Given the description of an element on the screen output the (x, y) to click on. 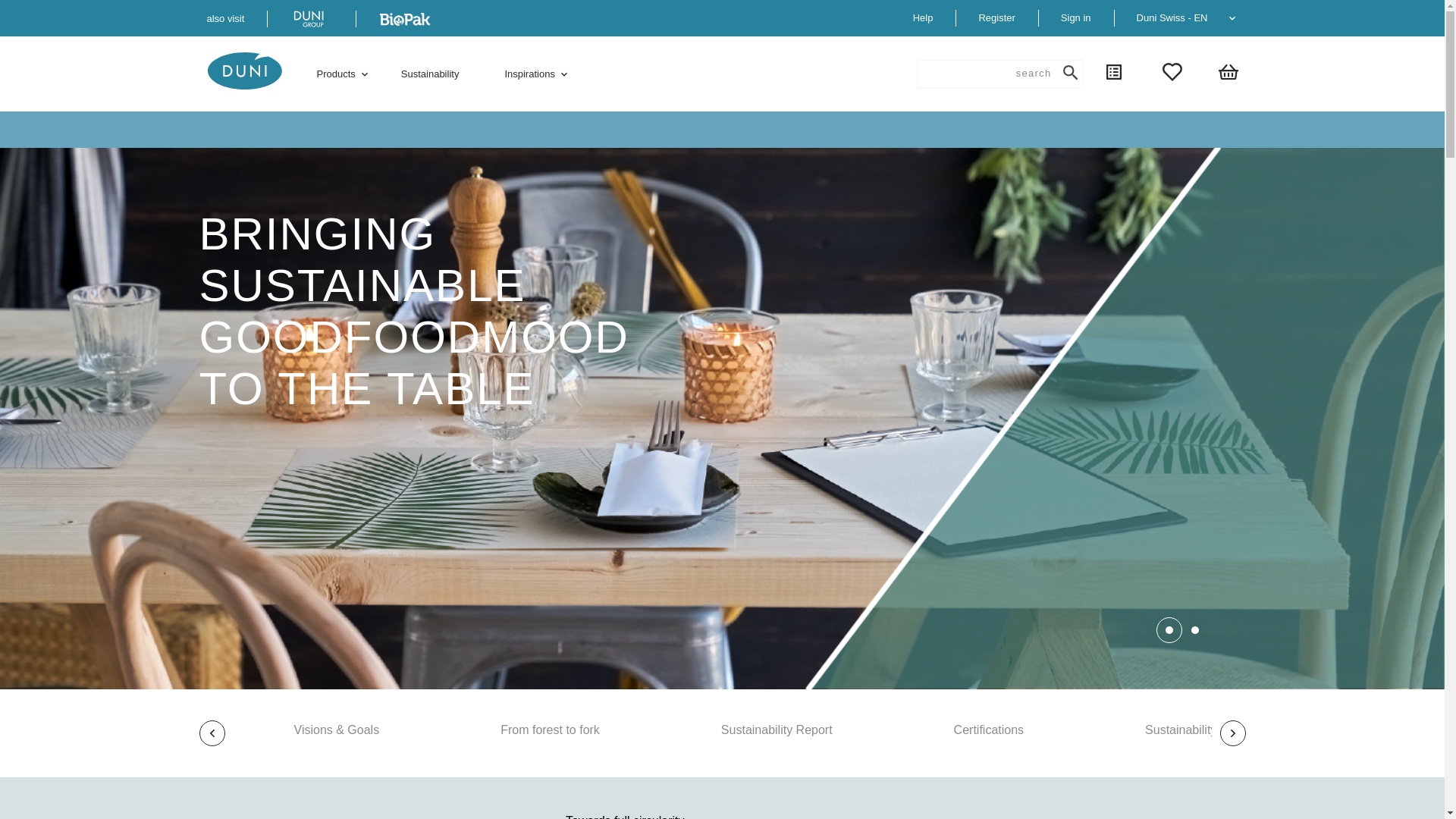
Duni (244, 70)
Help (922, 17)
Sustainability (430, 74)
Register (996, 17)
Products (335, 74)
Inspirations (528, 74)
Sign in (1075, 17)
Shop online (311, 18)
Duni Swiss - EN (1191, 17)
Products (335, 74)
